Given the description of an element on the screen output the (x, y) to click on. 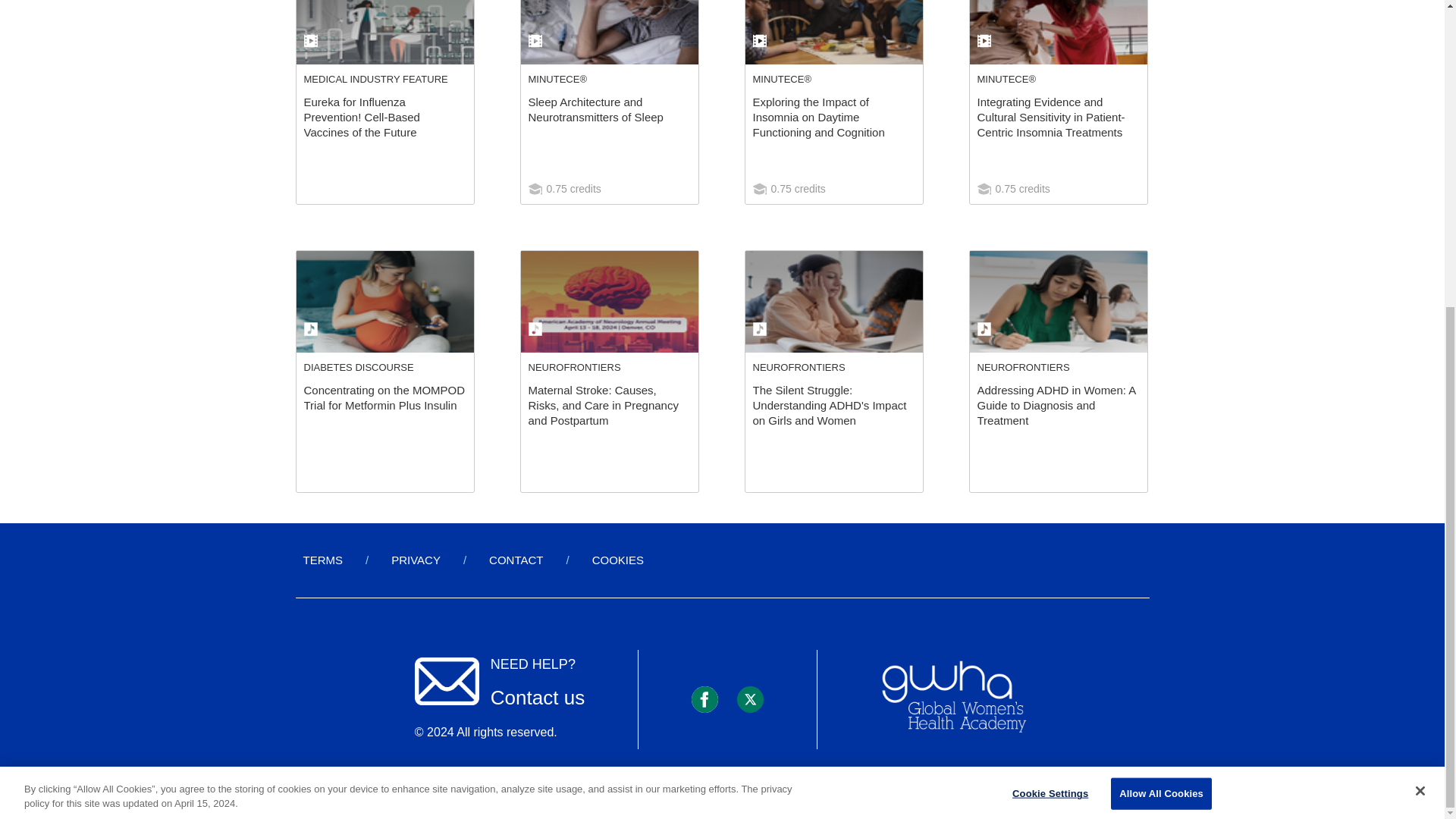
Global Women's Health Academy (953, 699)
Global Women's Health Academy (953, 697)
Twitter (749, 698)
